Given the description of an element on the screen output the (x, y) to click on. 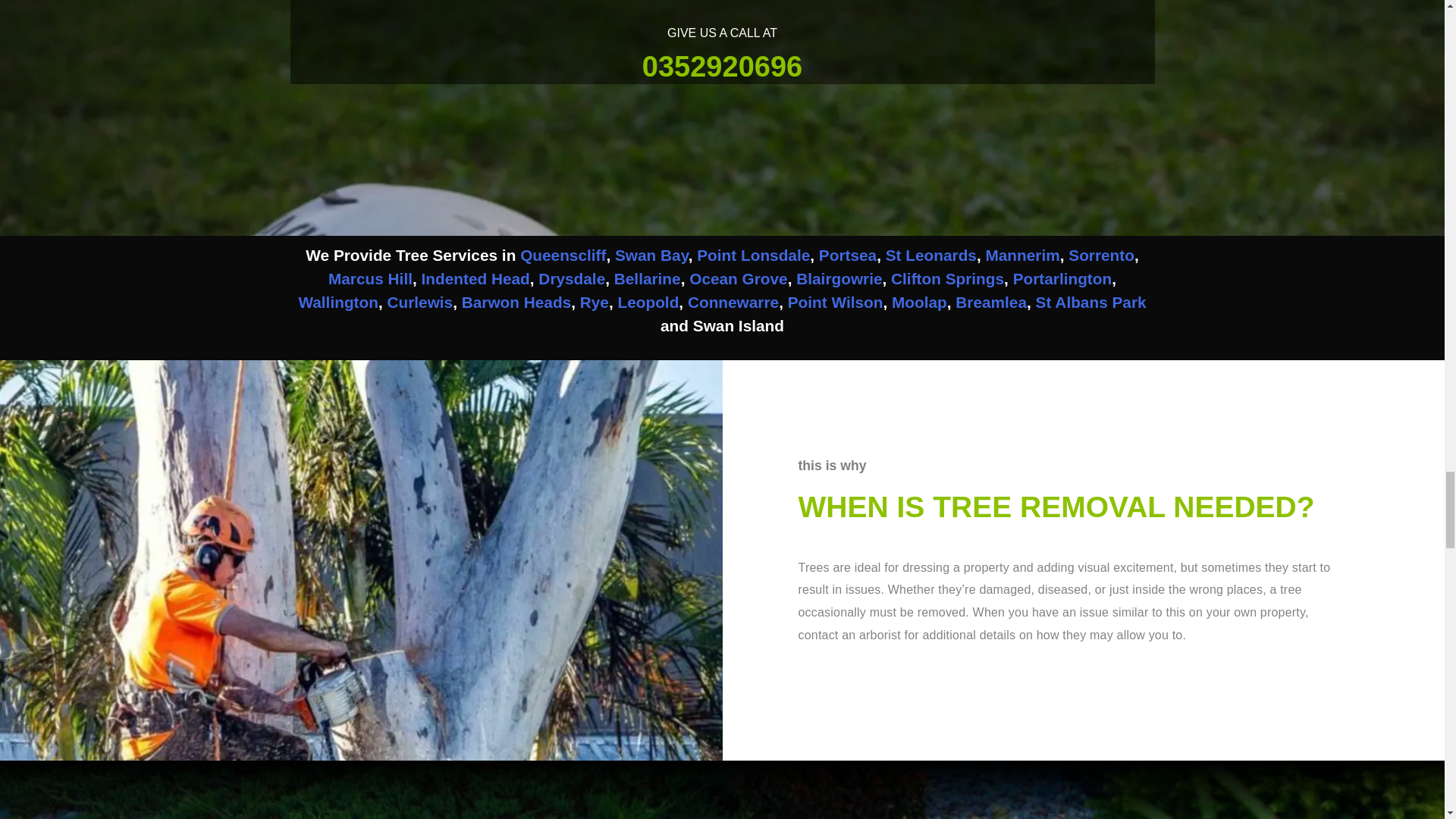
Marcus Hill (370, 278)
Clifton Springs (947, 278)
Blairgowrie (839, 278)
Ocean Grove (737, 278)
Sorrento (1101, 254)
St Leonards (930, 254)
Queenscliff (562, 254)
Point Lonsdale (753, 254)
Drysdale (571, 278)
Mannerim (1022, 254)
Swan Bay (651, 254)
Portsea (847, 254)
0352920696 (722, 66)
Bellarine (647, 278)
Indented Head (475, 278)
